Given the description of an element on the screen output the (x, y) to click on. 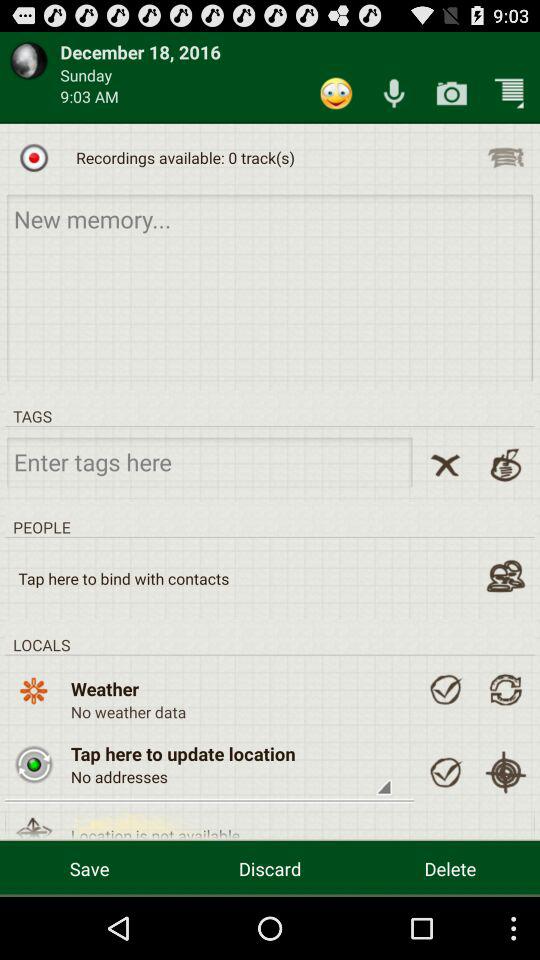
ok button (445, 772)
